Given the description of an element on the screen output the (x, y) to click on. 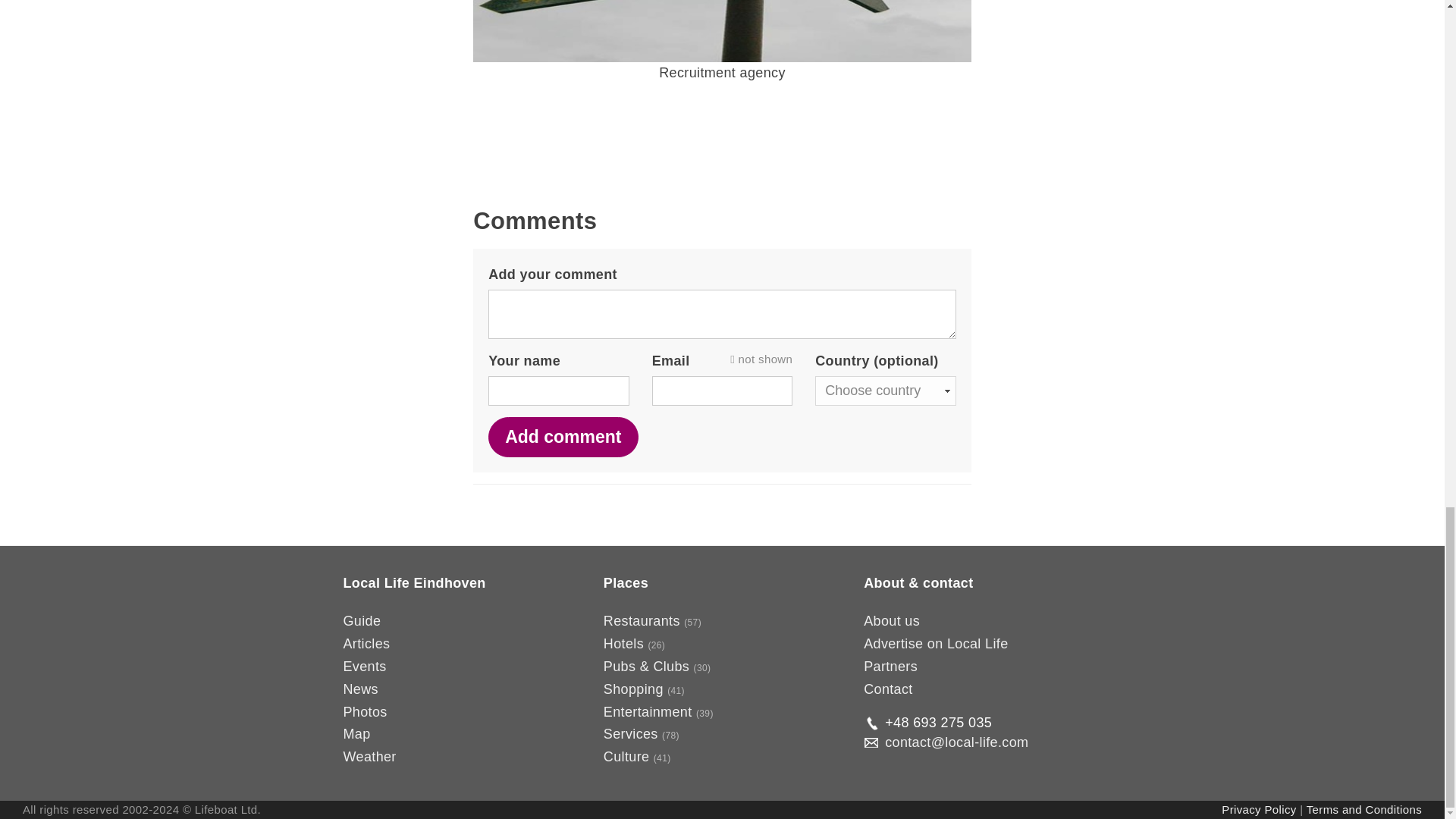
Local Life Eindhoven (413, 582)
Map (355, 734)
Photos (364, 711)
Add comment (562, 436)
Weather (369, 756)
Events (363, 666)
News (359, 688)
Articles (366, 643)
Guide (361, 620)
GetYourGuide Widget (722, 151)
